Given the description of an element on the screen output the (x, y) to click on. 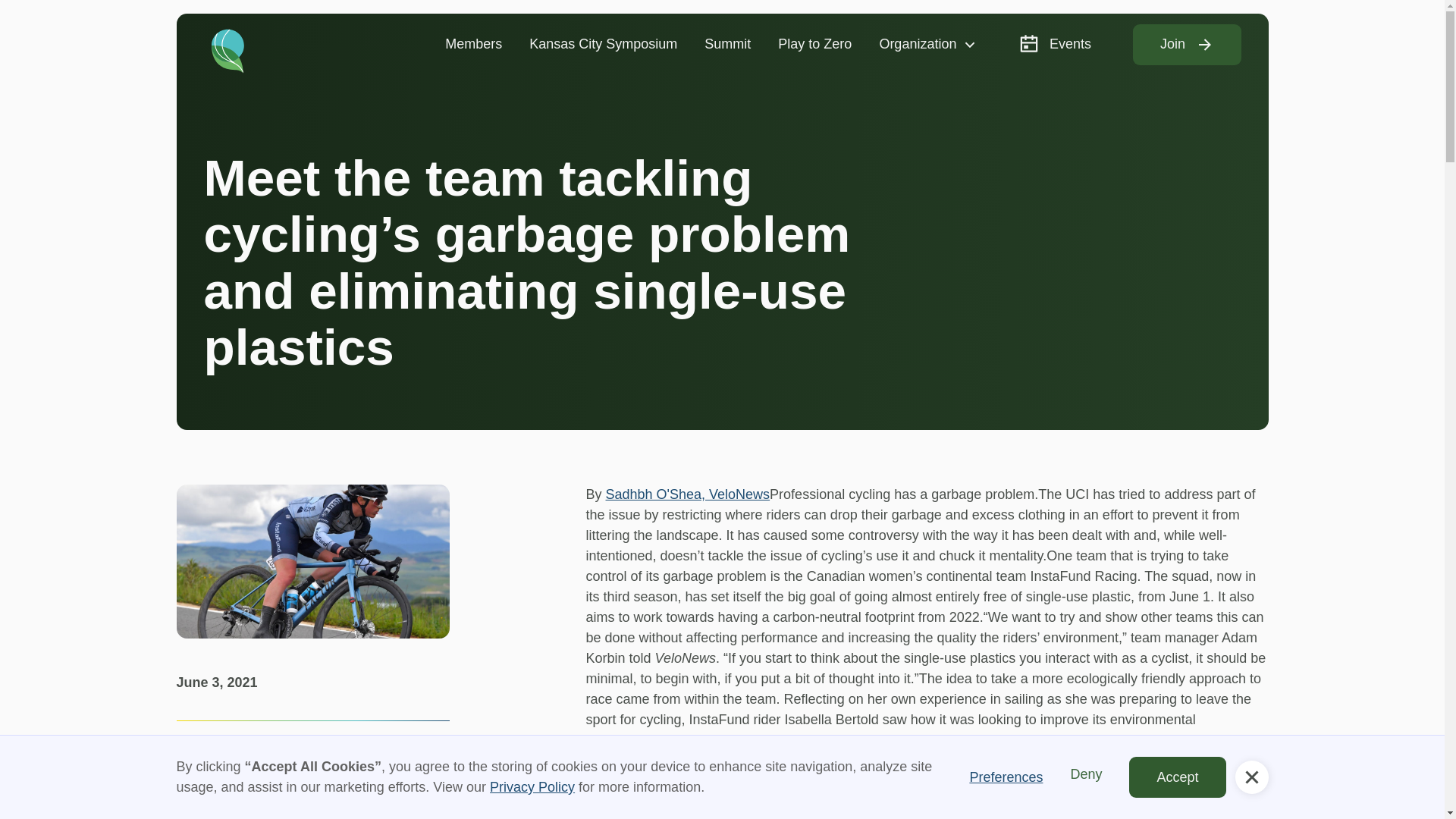
Events (1054, 43)
Kansas City Symposium (602, 44)
Play to Zero (814, 44)
Members (472, 44)
Summit (727, 44)
Join (1186, 44)
Sadhbh O'Shea, VeloNews (687, 494)
